Given the description of an element on the screen output the (x, y) to click on. 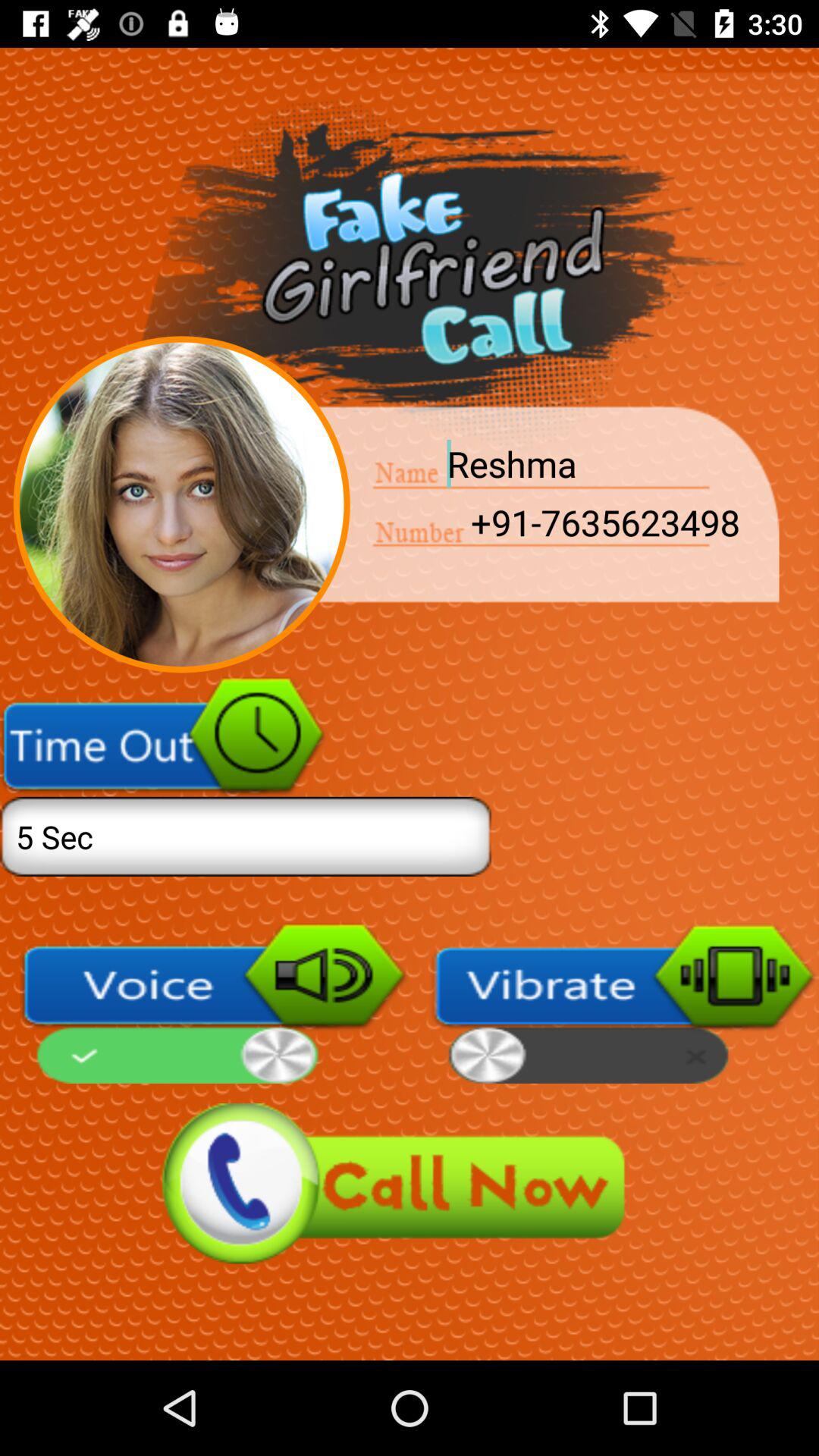
vibrate button (624, 1003)
